Given the description of an element on the screen output the (x, y) to click on. 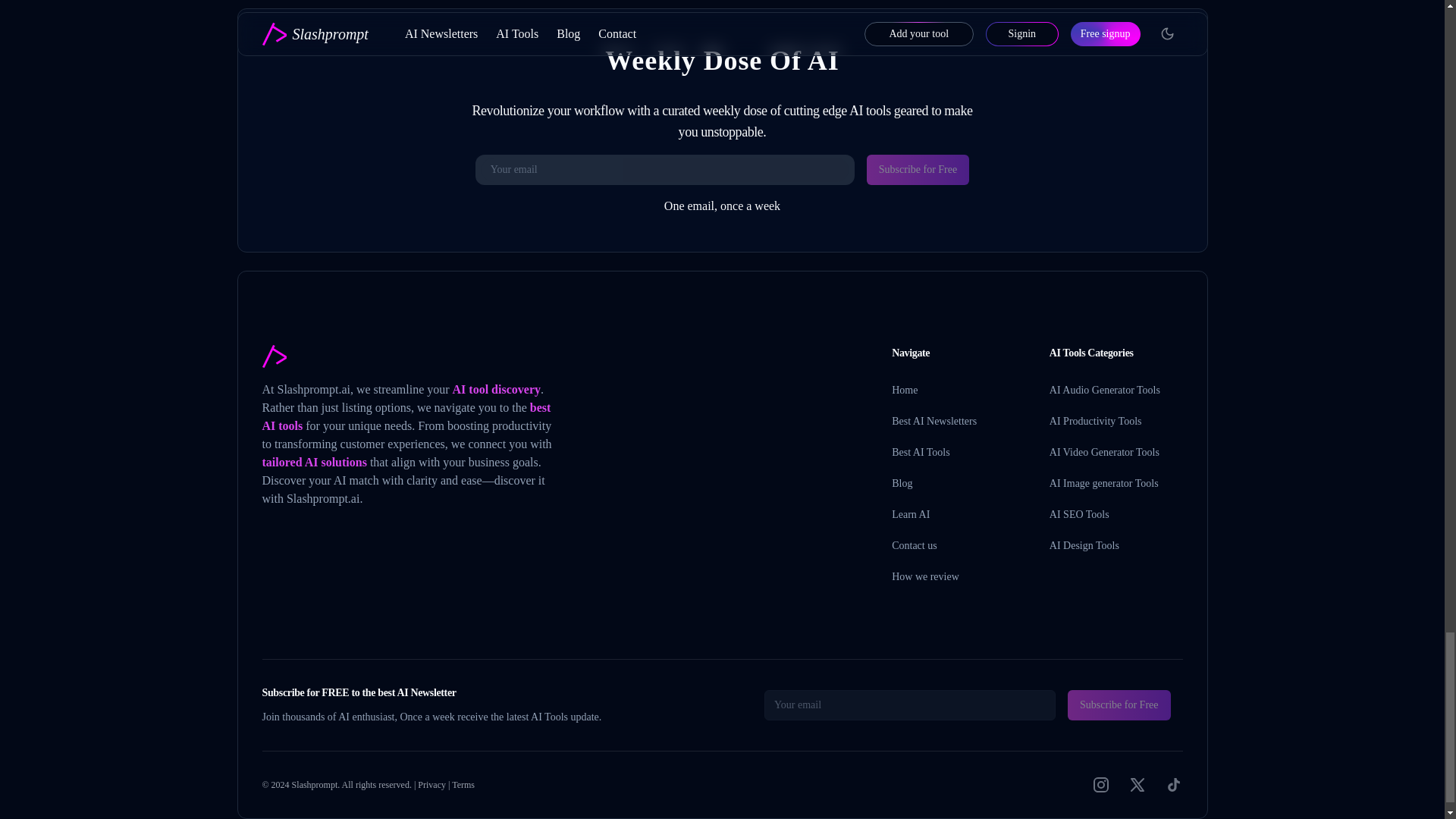
AI SEO Tools (1079, 514)
AI Image generator Tools (1103, 482)
AI Audio Generator Tools (1104, 389)
AI Productivity Tools (1095, 420)
AI Design Tools (1084, 545)
AI Video Generator Tools (1103, 451)
